Given the description of an element on the screen output the (x, y) to click on. 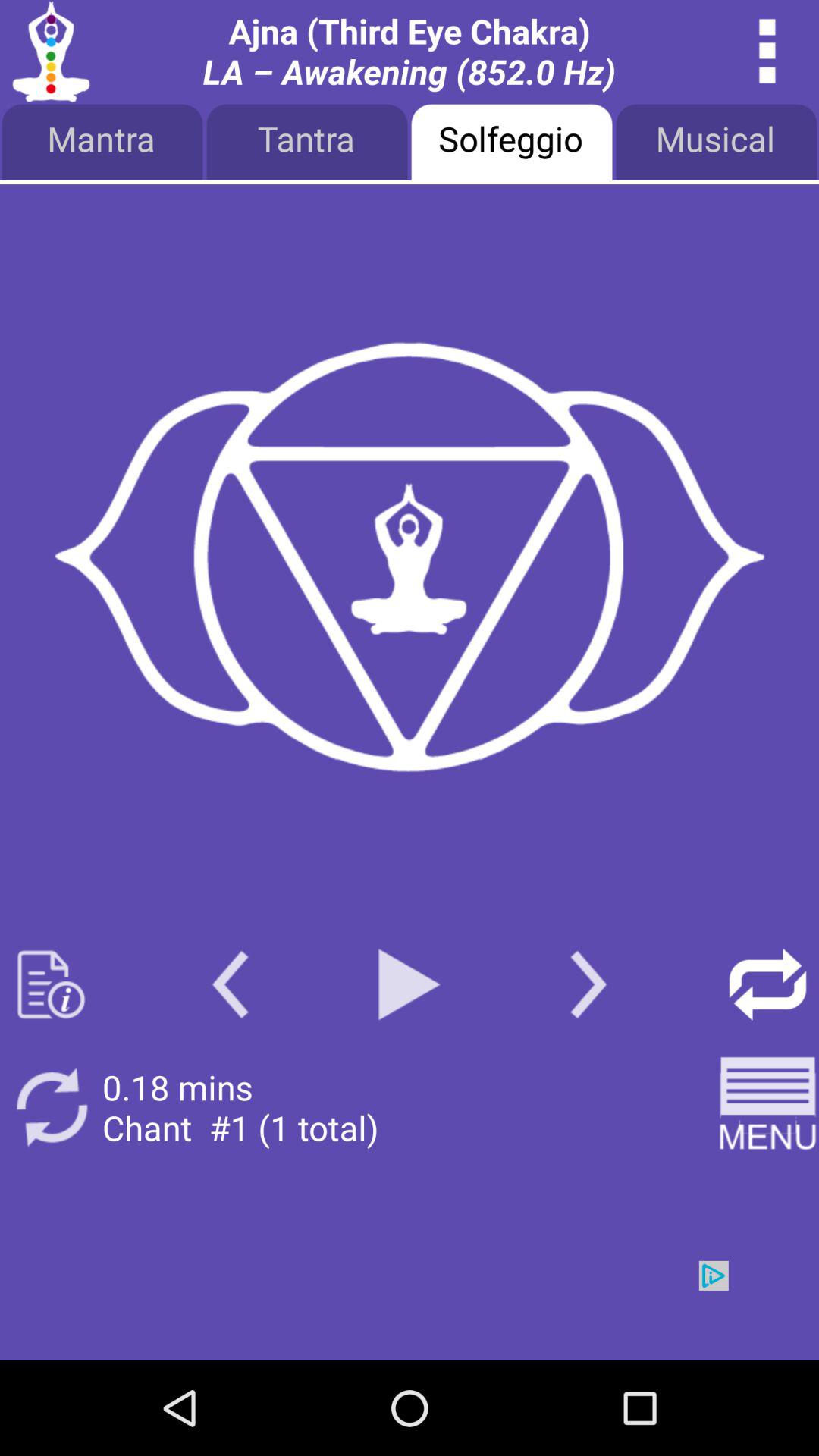
next (588, 984)
